Given the description of an element on the screen output the (x, y) to click on. 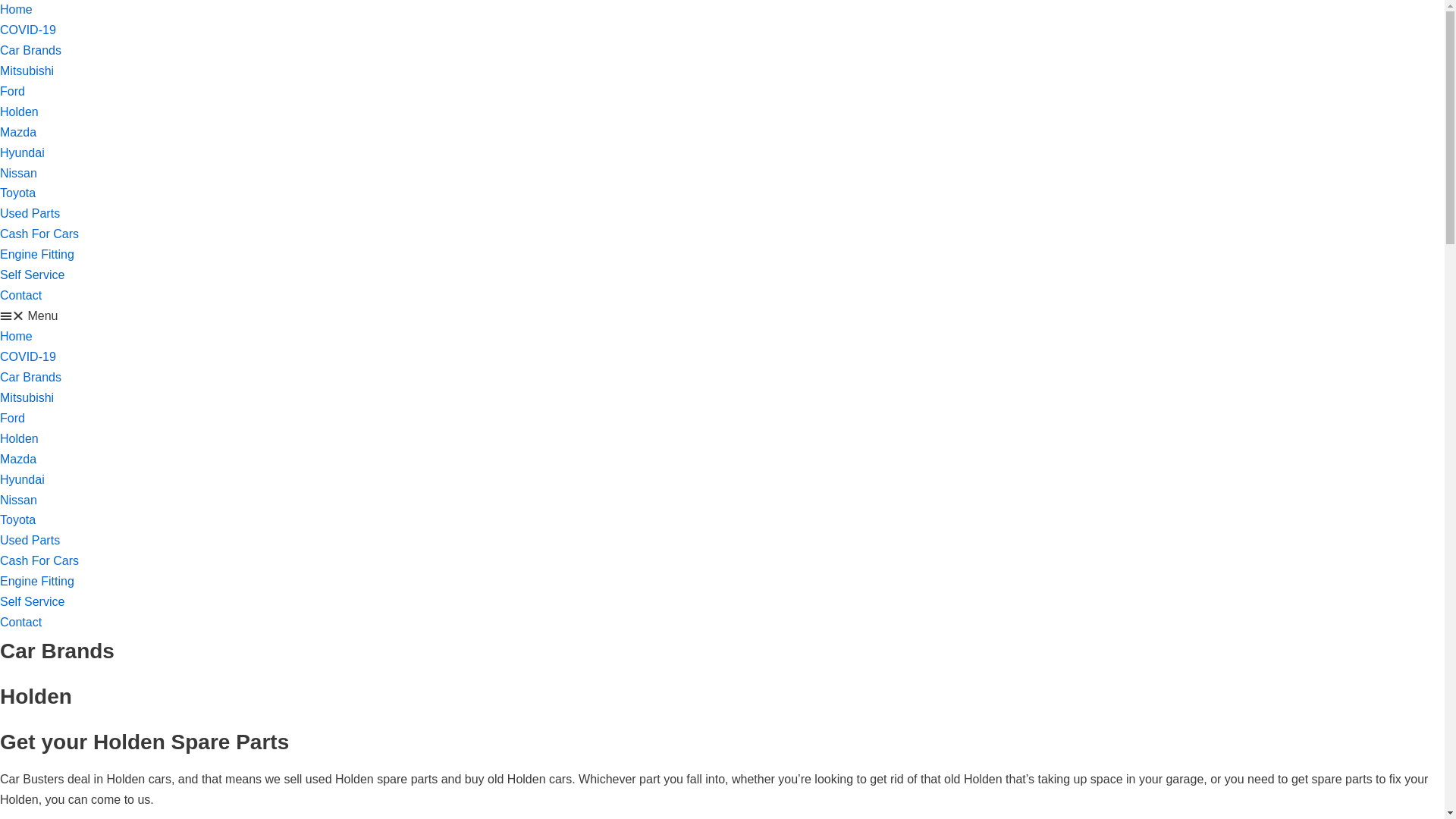
Contact Element type: text (20, 294)
Mazda Element type: text (18, 458)
Self Service Element type: text (32, 274)
Engine Fitting Element type: text (37, 580)
Car Brands Element type: text (30, 376)
Ford Element type: text (12, 90)
Holden Element type: text (19, 111)
Nissan Element type: text (18, 498)
COVID-19 Element type: text (28, 356)
Contact Element type: text (20, 621)
Used Parts Element type: text (29, 539)
Skip to content Element type: text (15, 7)
Home Element type: text (16, 9)
Toyota Element type: text (17, 519)
Holden Element type: text (19, 438)
Home Element type: text (16, 335)
Ford Element type: text (12, 417)
COVID-19 Element type: text (28, 29)
Self Service Element type: text (32, 601)
Cash For Cars Element type: text (39, 233)
Used Parts Element type: text (29, 213)
Mitsubishi Element type: text (26, 70)
Nissan Element type: text (18, 172)
Toyota Element type: text (17, 192)
Engine Fitting Element type: text (37, 253)
Hyundai Element type: text (22, 152)
Car Brands Element type: text (30, 49)
Hyundai Element type: text (22, 479)
Mazda Element type: text (18, 131)
Mitsubishi Element type: text (26, 397)
Cash For Cars Element type: text (39, 560)
